Given the description of an element on the screen output the (x, y) to click on. 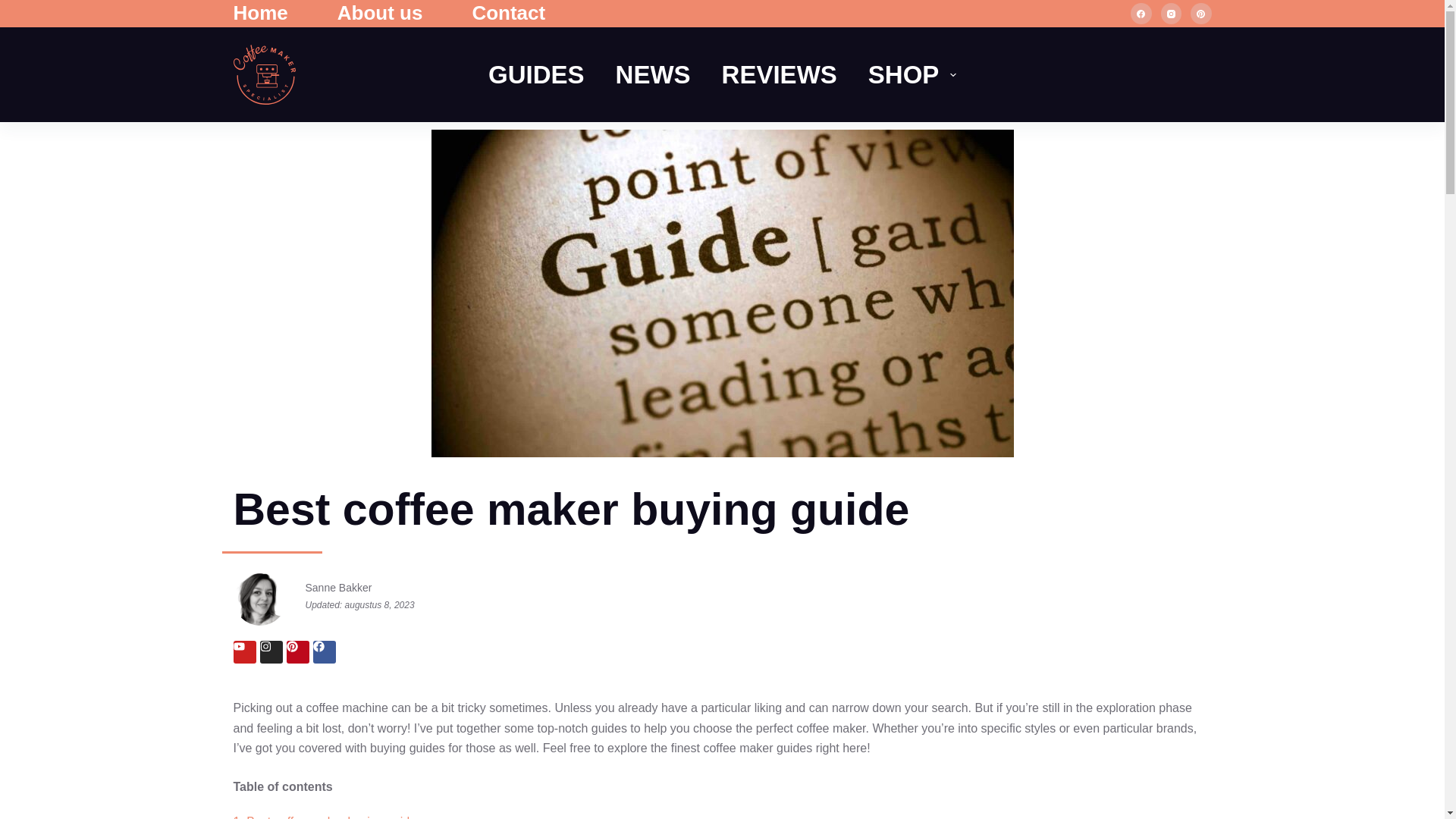
About us (379, 13)
SHOP (911, 74)
NEWS (652, 74)
Doorgaan naar artikel (15, 7)
Contact (508, 13)
REVIEWS (778, 74)
GUIDES (536, 74)
Home (272, 13)
